Given the description of an element on the screen output the (x, y) to click on. 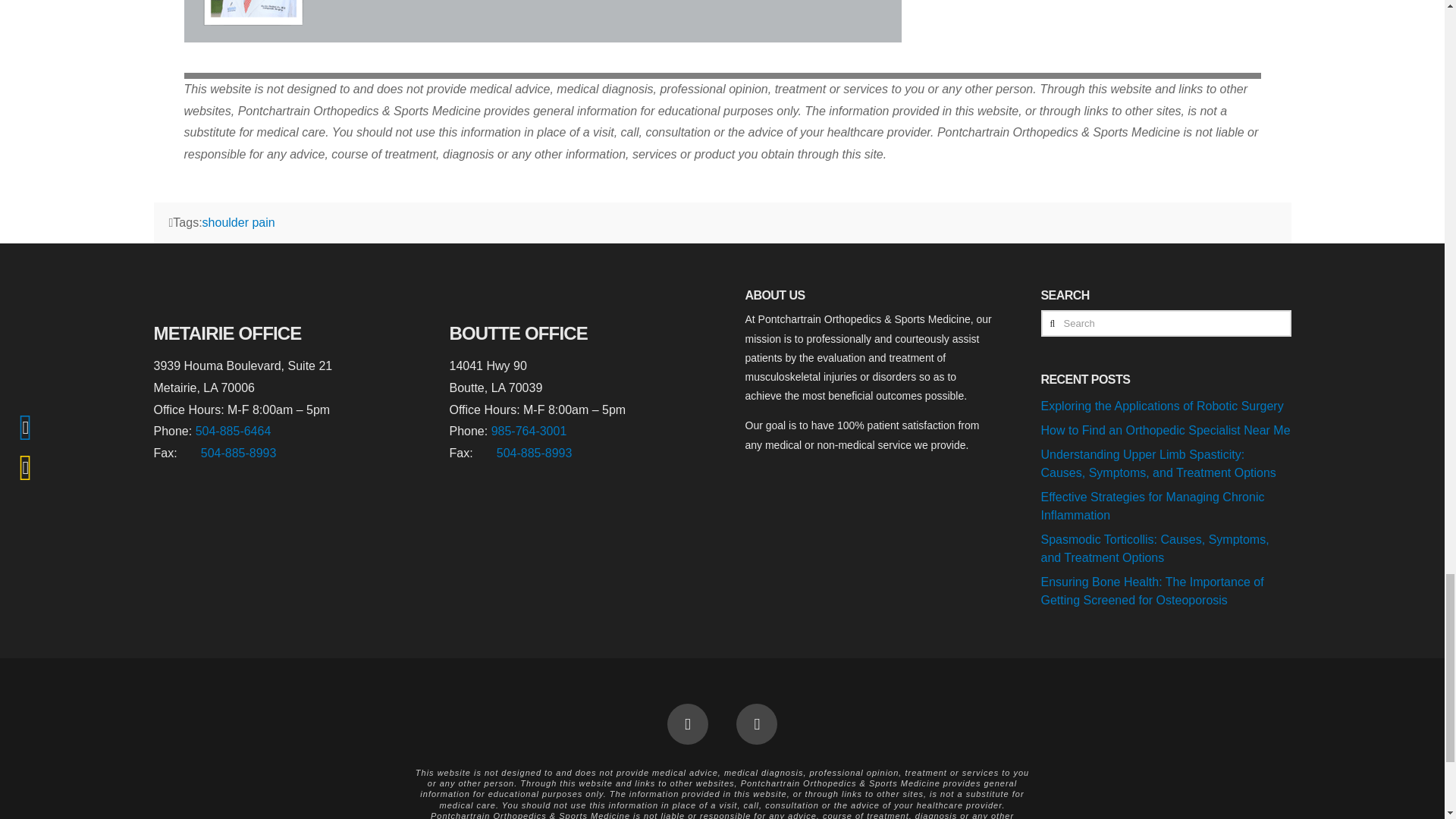
LinkedIn (756, 723)
Facebook (686, 723)
